Given the description of an element on the screen output the (x, y) to click on. 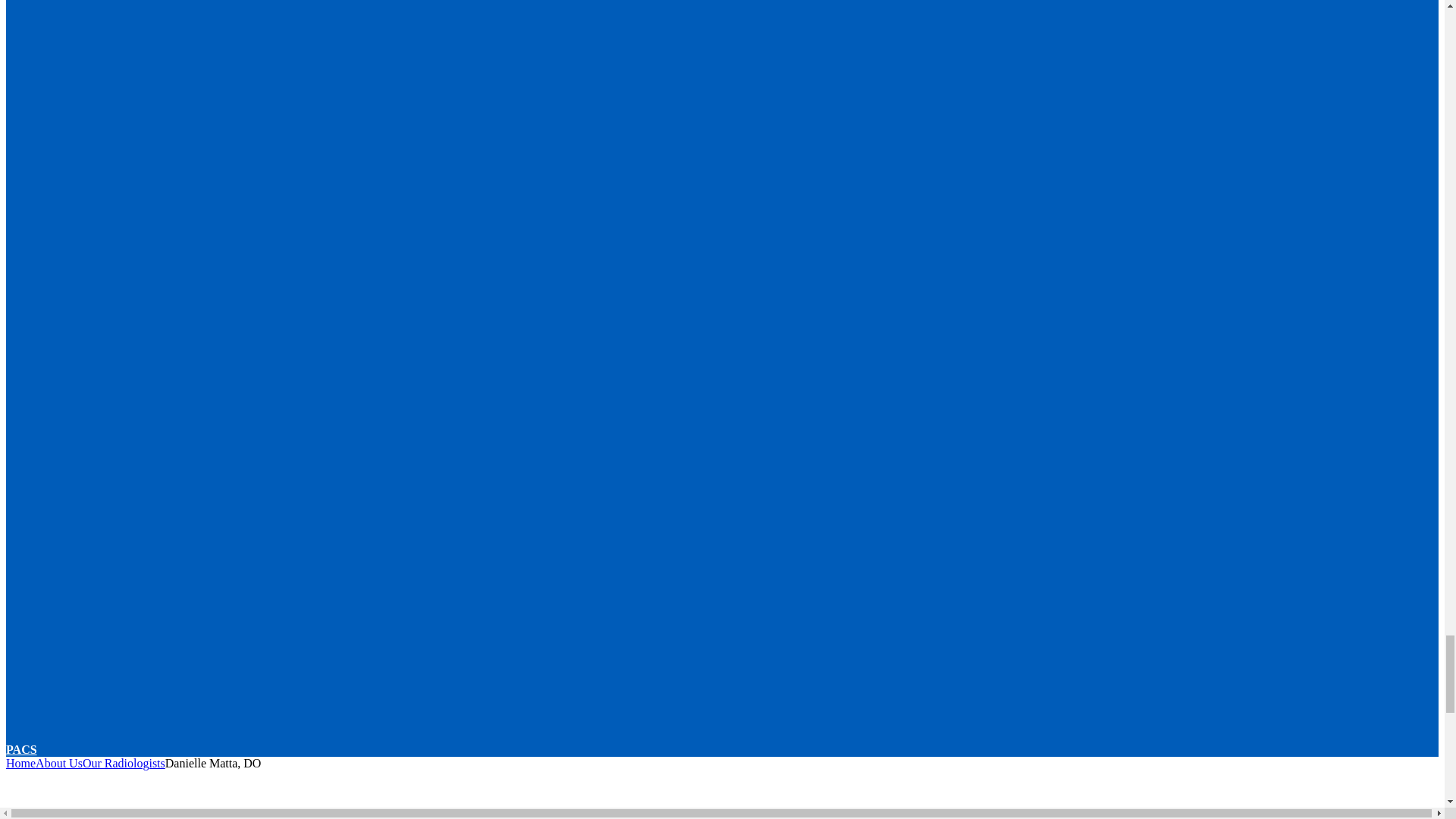
Go to Our Radiologists. (123, 762)
Go to About Us. (58, 762)
Go to Radiology Regional. (19, 762)
